Given the description of an element on the screen output the (x, y) to click on. 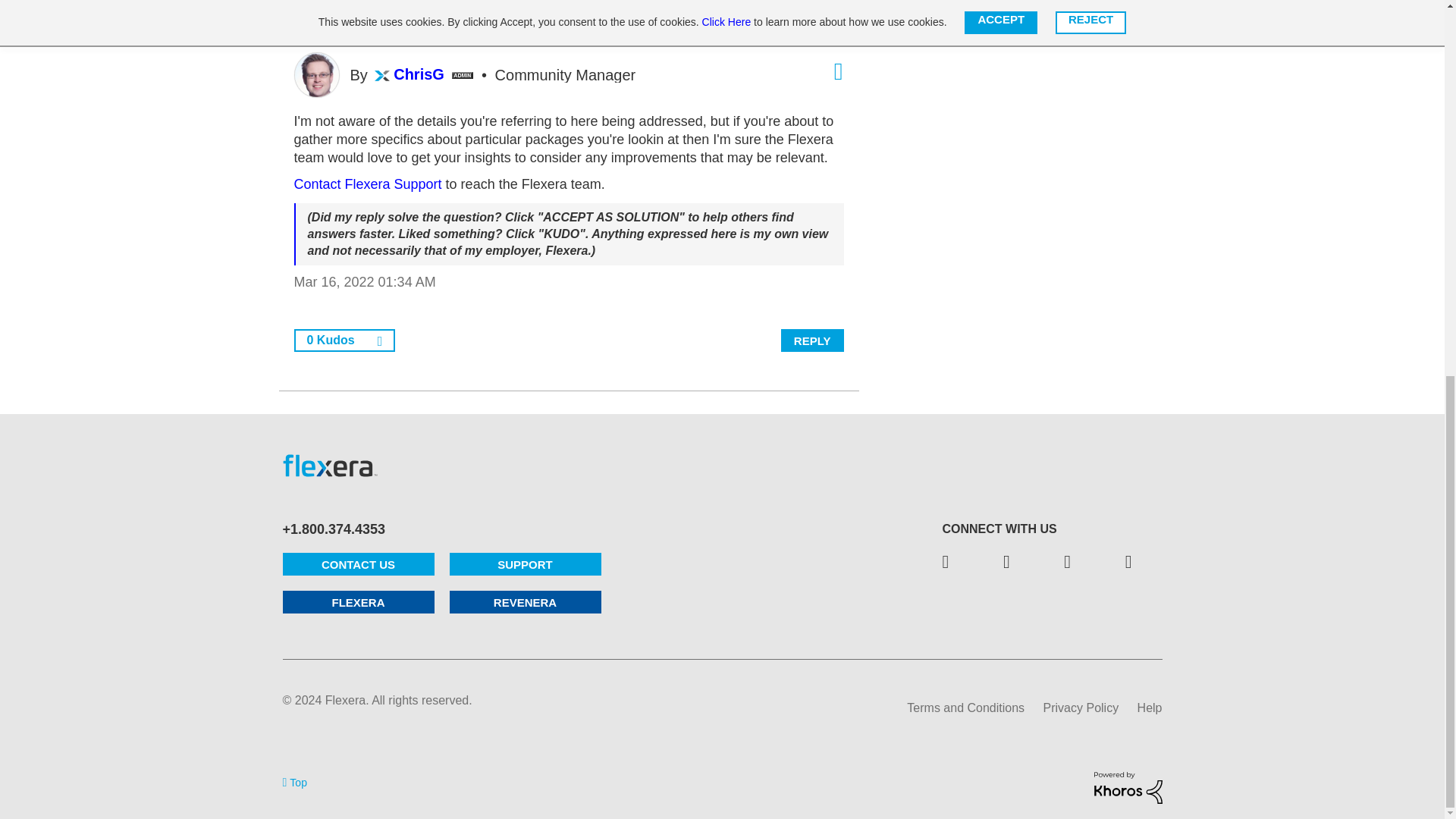
Top (293, 781)
Software Vulnerability Management Forum (569, 13)
API Service Provider not working (694, 13)
Top (293, 781)
